Given the description of an element on the screen output the (x, y) to click on. 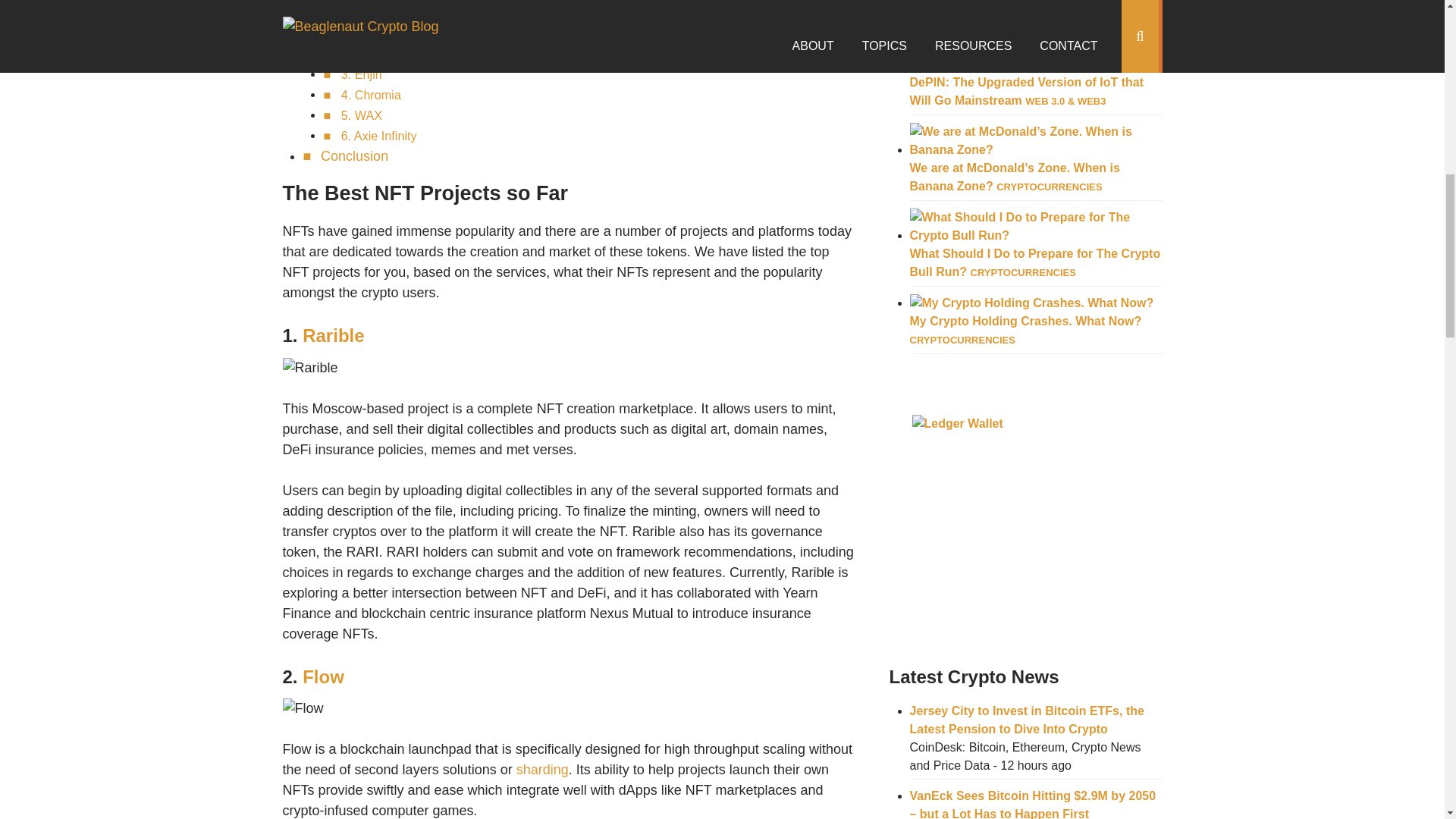
4. Chromia (370, 94)
Rarible (333, 335)
The Best NFT Projects so Far (410, 12)
3. Enjin (360, 74)
Flow (322, 675)
2. Flow (360, 53)
5. WAX (360, 115)
2. Flow (360, 53)
1. Rarible (366, 33)
Conclusion (354, 155)
The Best NFT Projects so Far (410, 12)
4. Chromia (370, 94)
Conclusion (354, 155)
3. Enjin (360, 74)
6. Axie Infinity (378, 135)
